Given the description of an element on the screen output the (x, y) to click on. 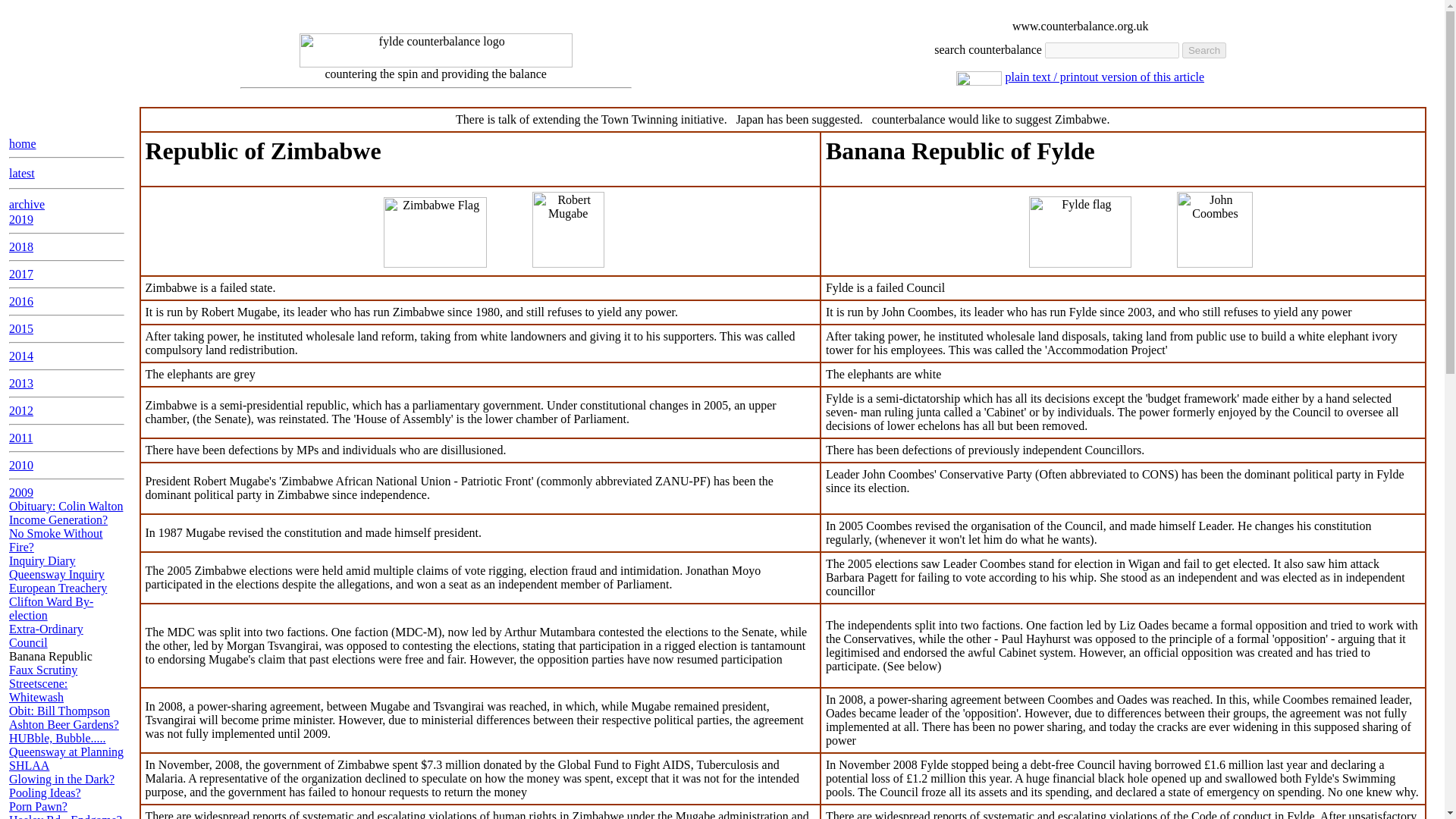
2015 (20, 328)
2018 (20, 246)
Inquiry Diary (41, 560)
Ashton Beer Gardens? (63, 724)
2014 (20, 355)
Queensway at Planning (65, 751)
2011 (20, 437)
Faux Scrutiny (42, 669)
2013 (20, 382)
Clifton Ward By-election (50, 608)
